Given the description of an element on the screen output the (x, y) to click on. 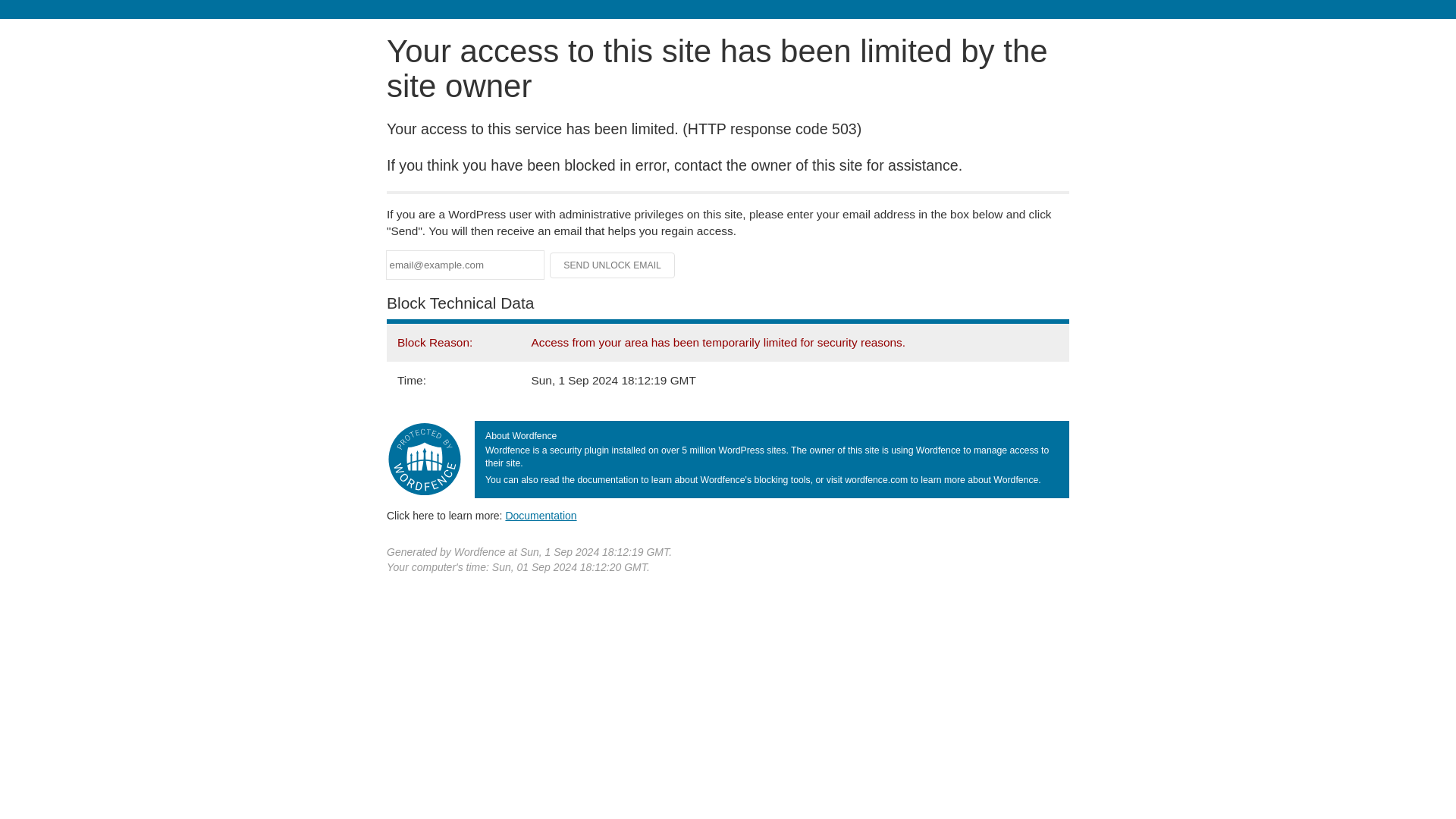
Send Unlock Email (612, 265)
Send Unlock Email (612, 265)
Documentation (540, 515)
